Given the description of an element on the screen output the (x, y) to click on. 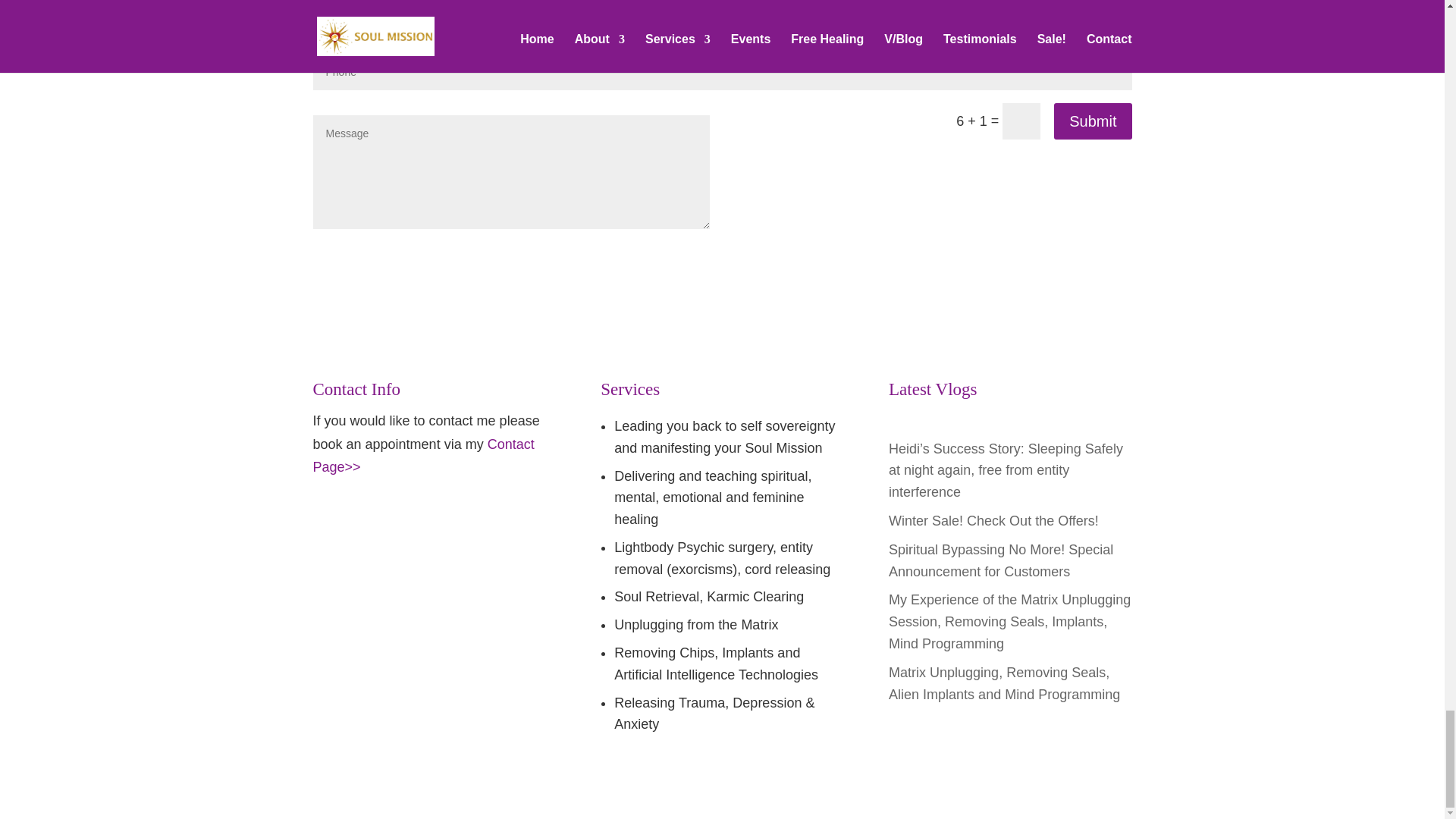
Follow on Instagram (384, 518)
Follow on Facebook (324, 518)
Follow on Youtube (354, 518)
Winter Sale! Check Out the Offers! (993, 520)
Submit (1092, 121)
Unplugging from the Matrix (695, 624)
Soul Retrieval, Karmic Clearing (708, 596)
